Given the description of an element on the screen output the (x, y) to click on. 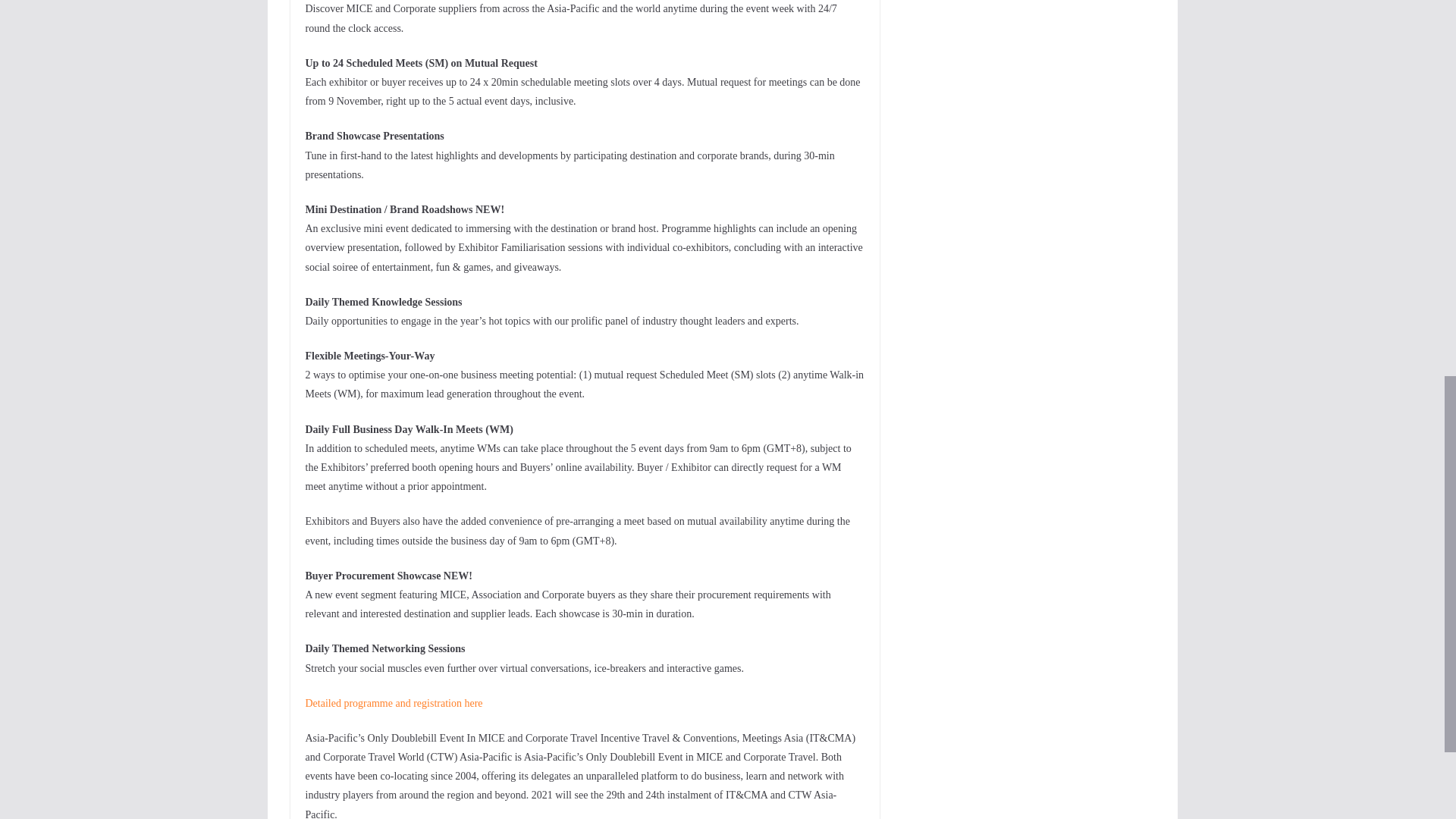
Detailed programme and registration here (392, 703)
